Given the description of an element on the screen output the (x, y) to click on. 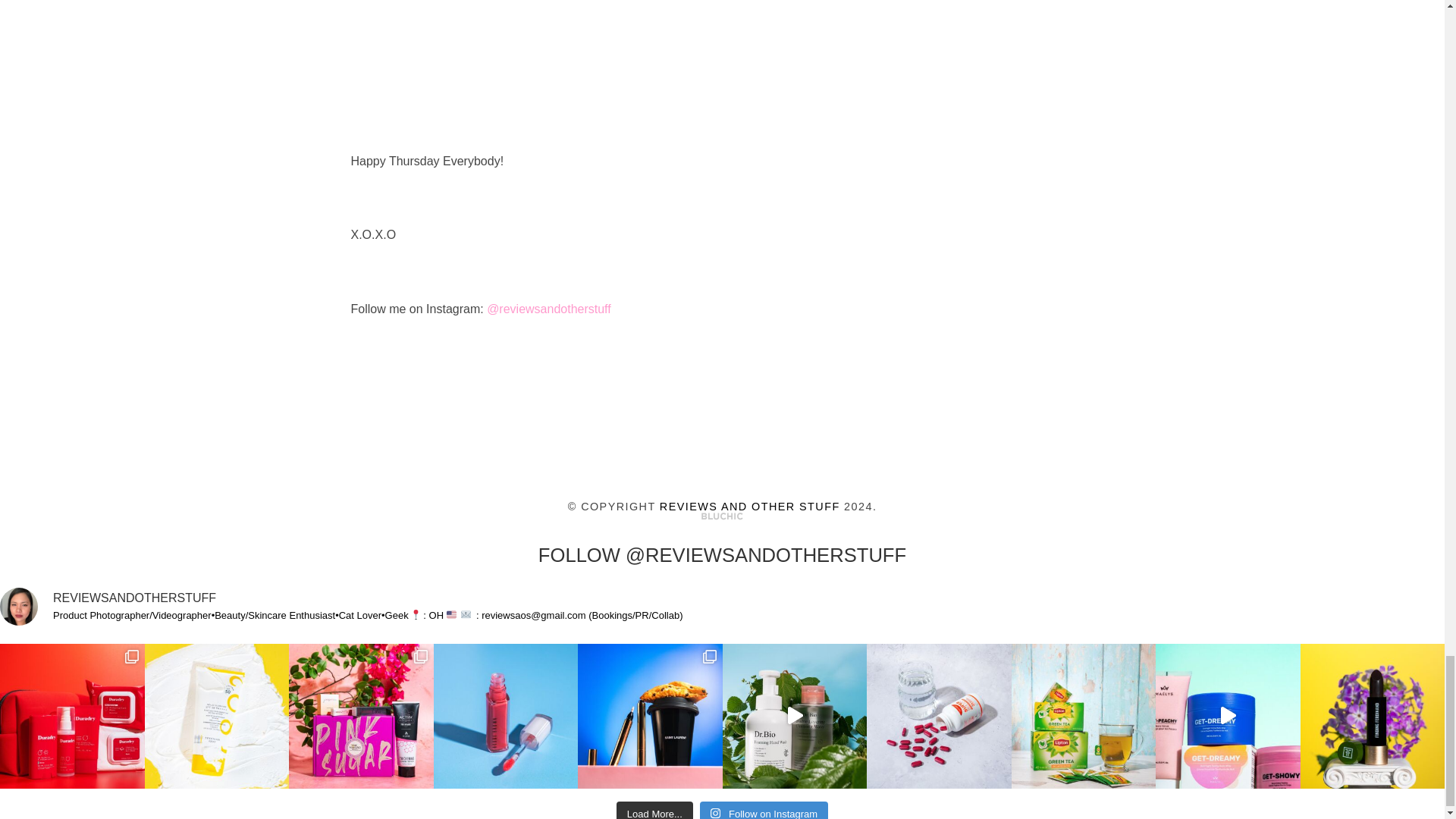
Theme by Bluchic (721, 516)
